Given the description of an element on the screen output the (x, y) to click on. 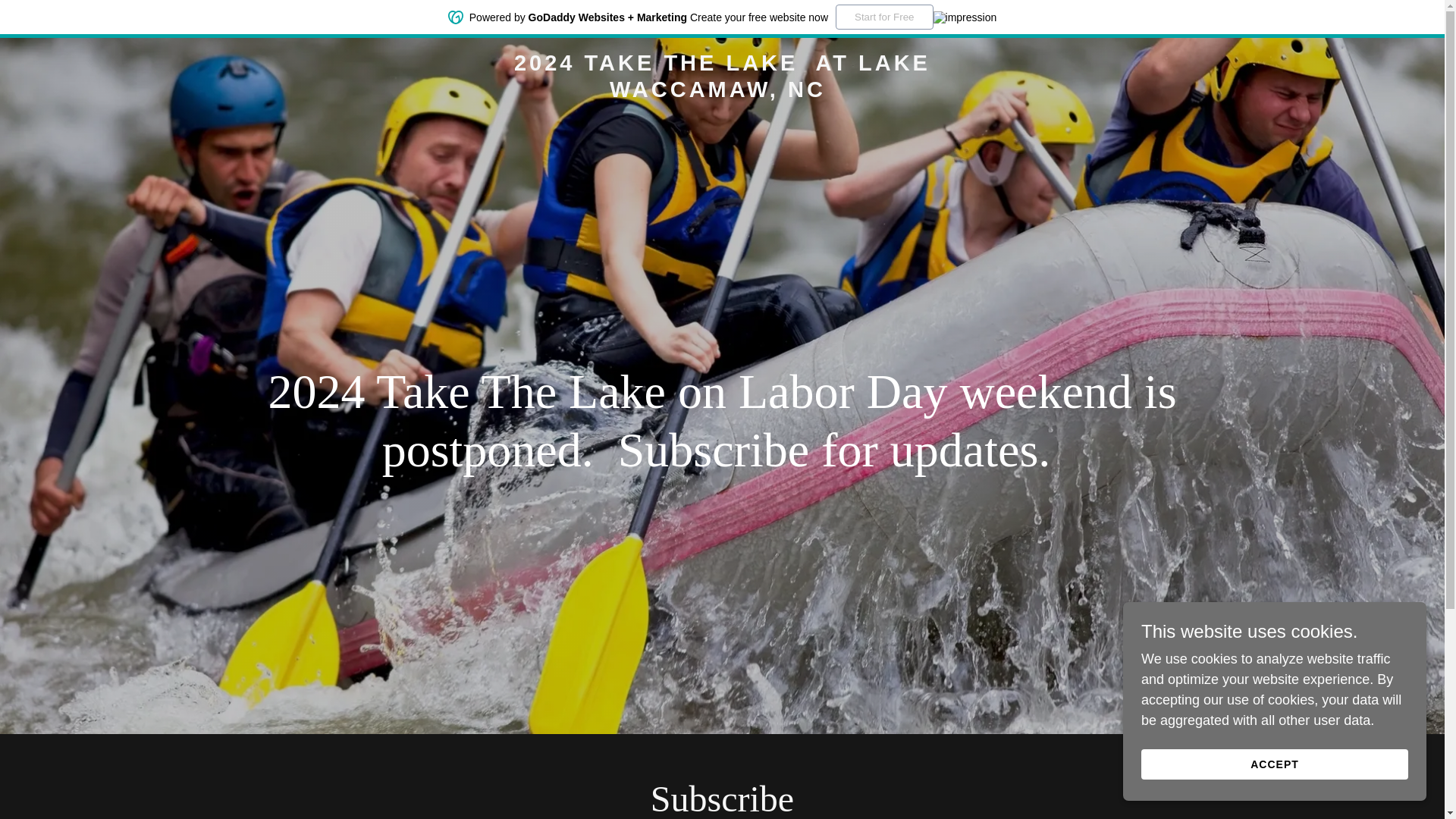
ACCEPT (1274, 764)
2024 TAKE THE LAKE  AT LAKE WACCAMAW, NC  (721, 92)
